Given the description of an element on the screen output the (x, y) to click on. 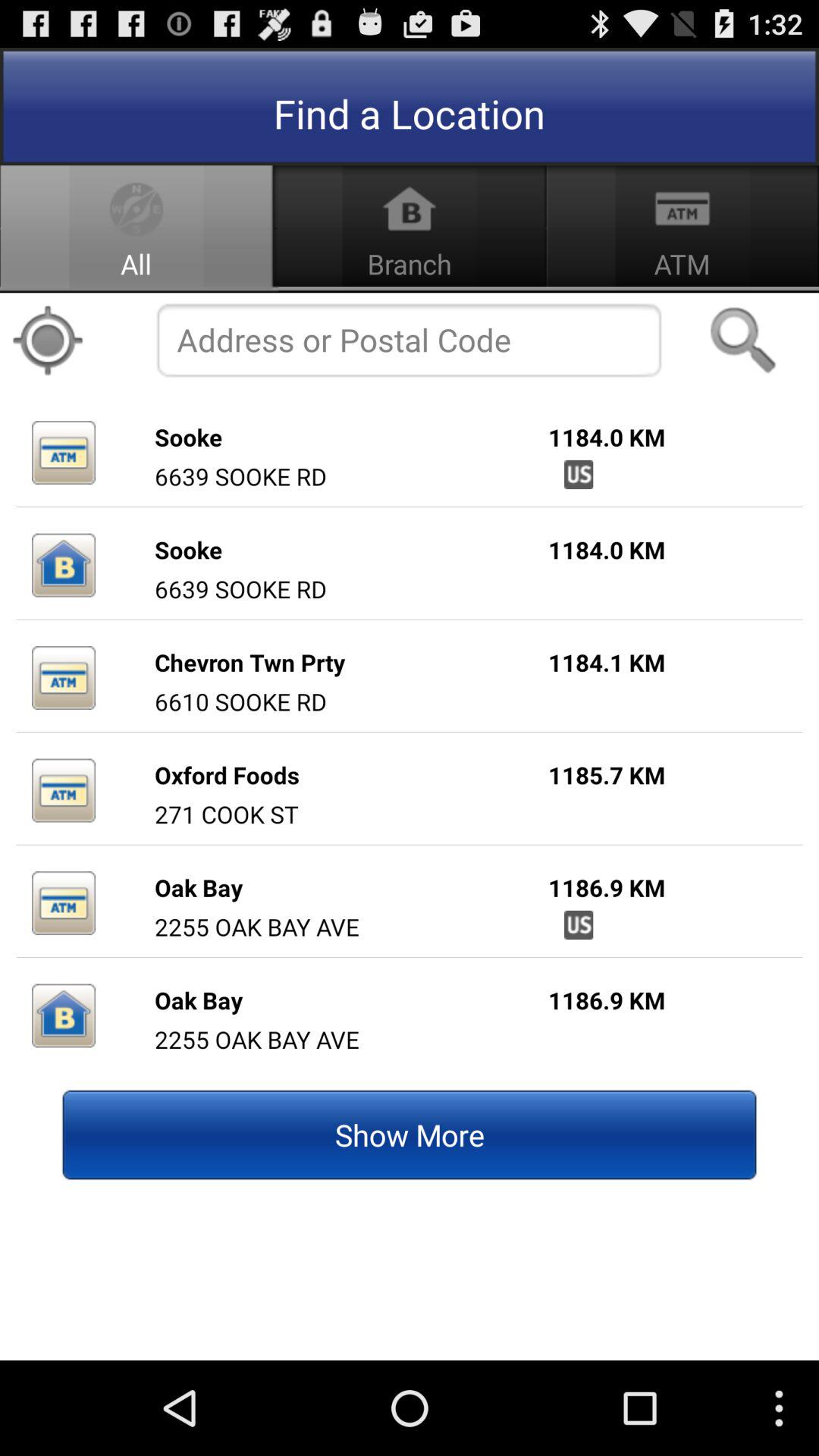
click the show more icon (409, 1134)
